Given the description of an element on the screen output the (x, y) to click on. 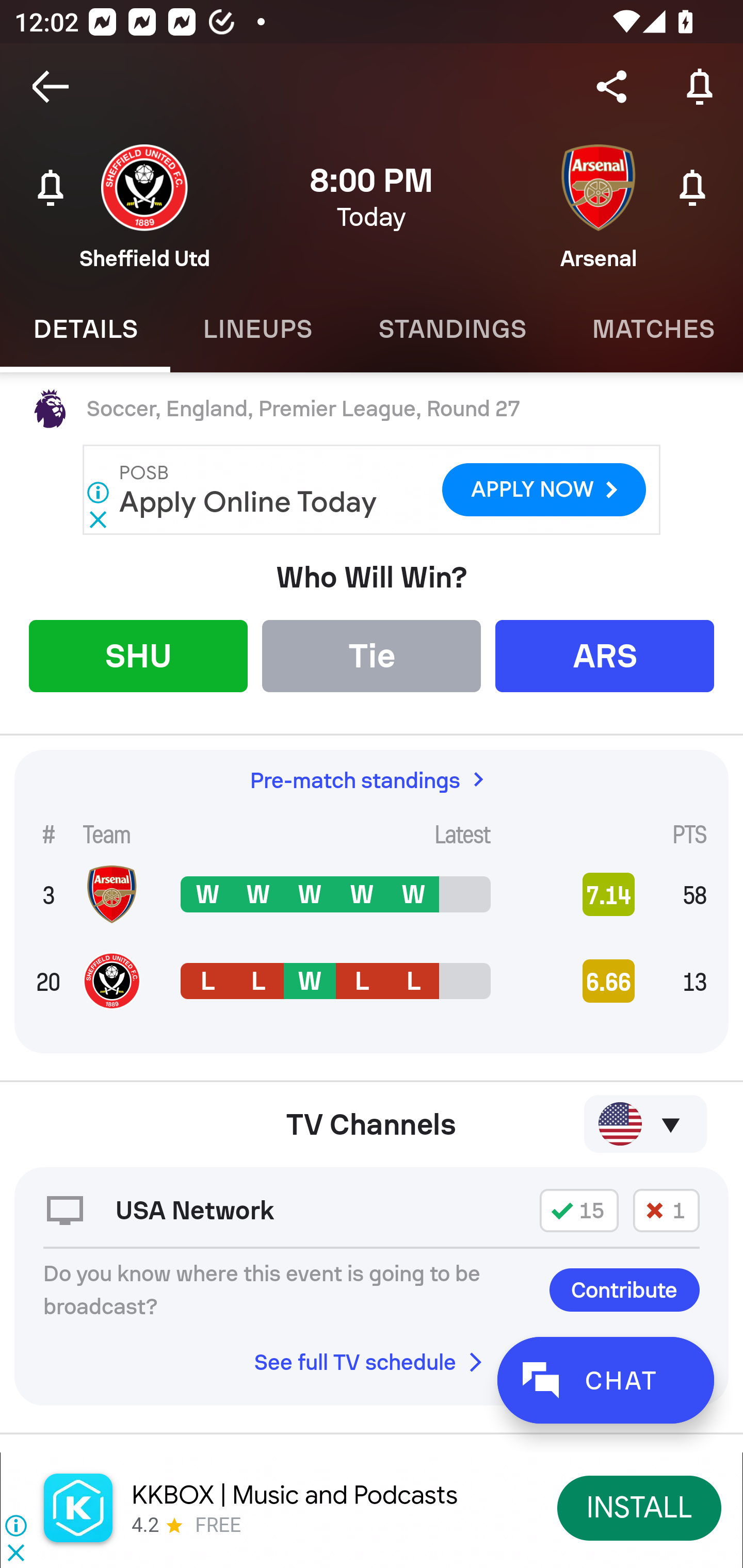
Navigate up (50, 86)
Lineups LINEUPS (257, 329)
Standings STANDINGS (451, 329)
Matches MATCHES (650, 329)
Soccer, England, Premier League, Round 27 (371, 409)
POSB (144, 472)
APPLY NOW (543, 489)
Apply Online Today (248, 501)
SHU (137, 655)
Tie (371, 655)
ARS (604, 655)
15 (578, 1210)
1 (666, 1210)
Contribute (624, 1289)
See full TV schedule (371, 1361)
CHAT (605, 1380)
INSTALL (639, 1507)
KKBOX | Music and Podcasts (294, 1494)
